Given the description of an element on the screen output the (x, y) to click on. 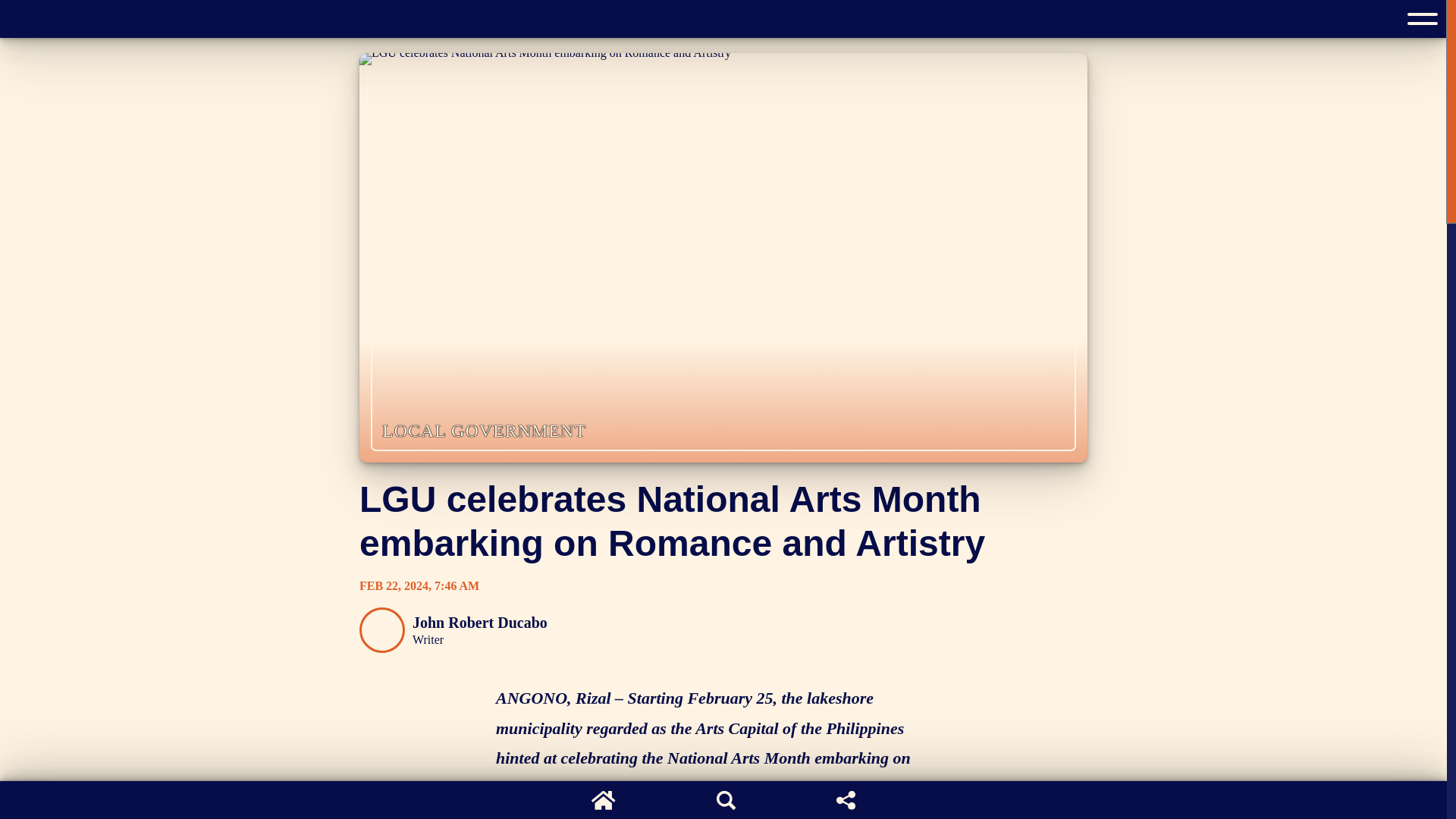
LOCAL GOVERNMENT (484, 430)
